Given the description of an element on the screen output the (x, y) to click on. 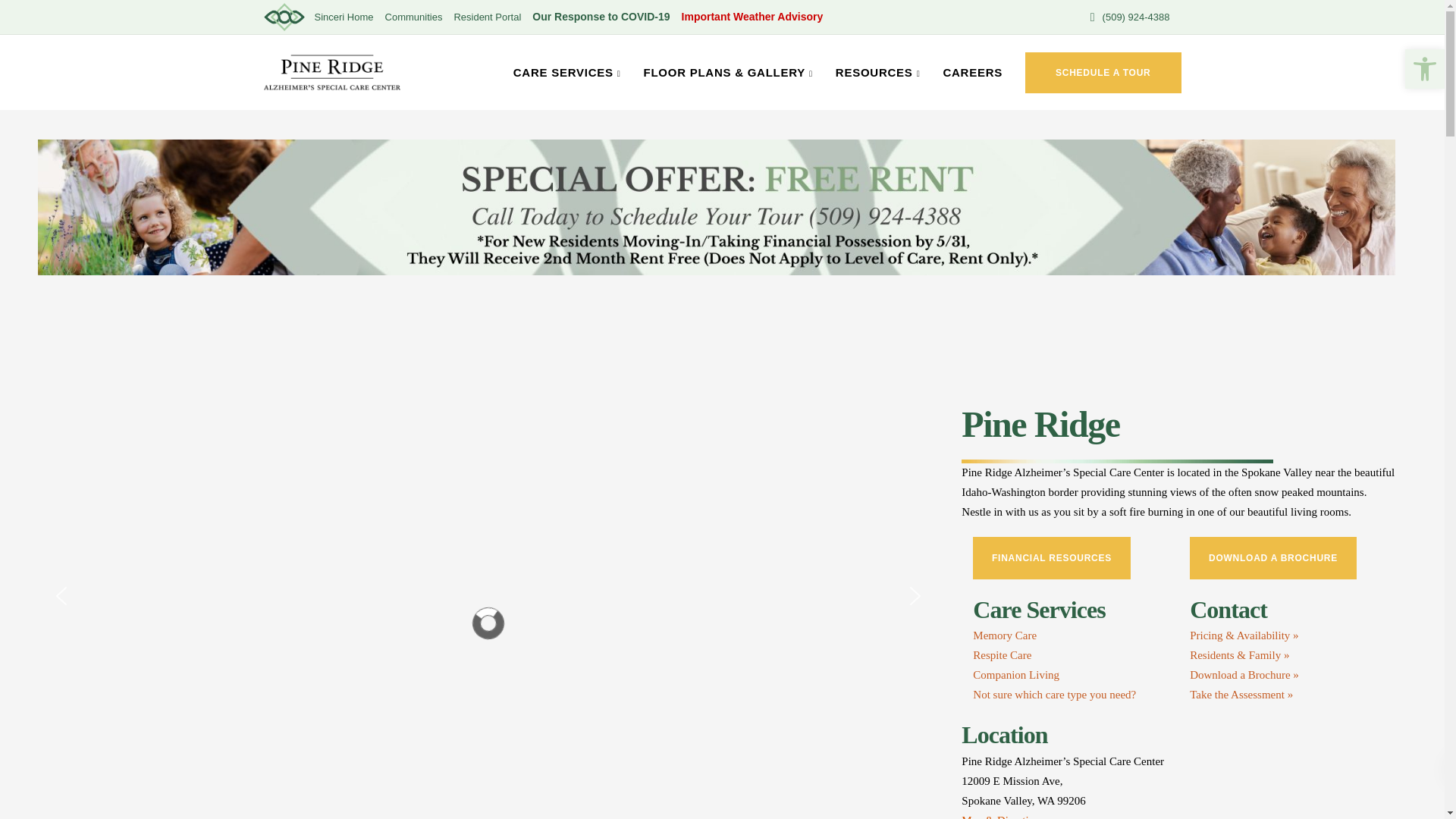
CARE SERVICES (566, 72)
Our Response to COVID-19 (600, 16)
SCHEDULE A TOUR (1102, 71)
Communities (413, 16)
Accessibility Tools (1424, 68)
Resident Portal (486, 16)
Important Weather Advisory (752, 16)
Sinceri Home (343, 16)
RESOURCES (877, 72)
CAREERS (972, 72)
